Given the description of an element on the screen output the (x, y) to click on. 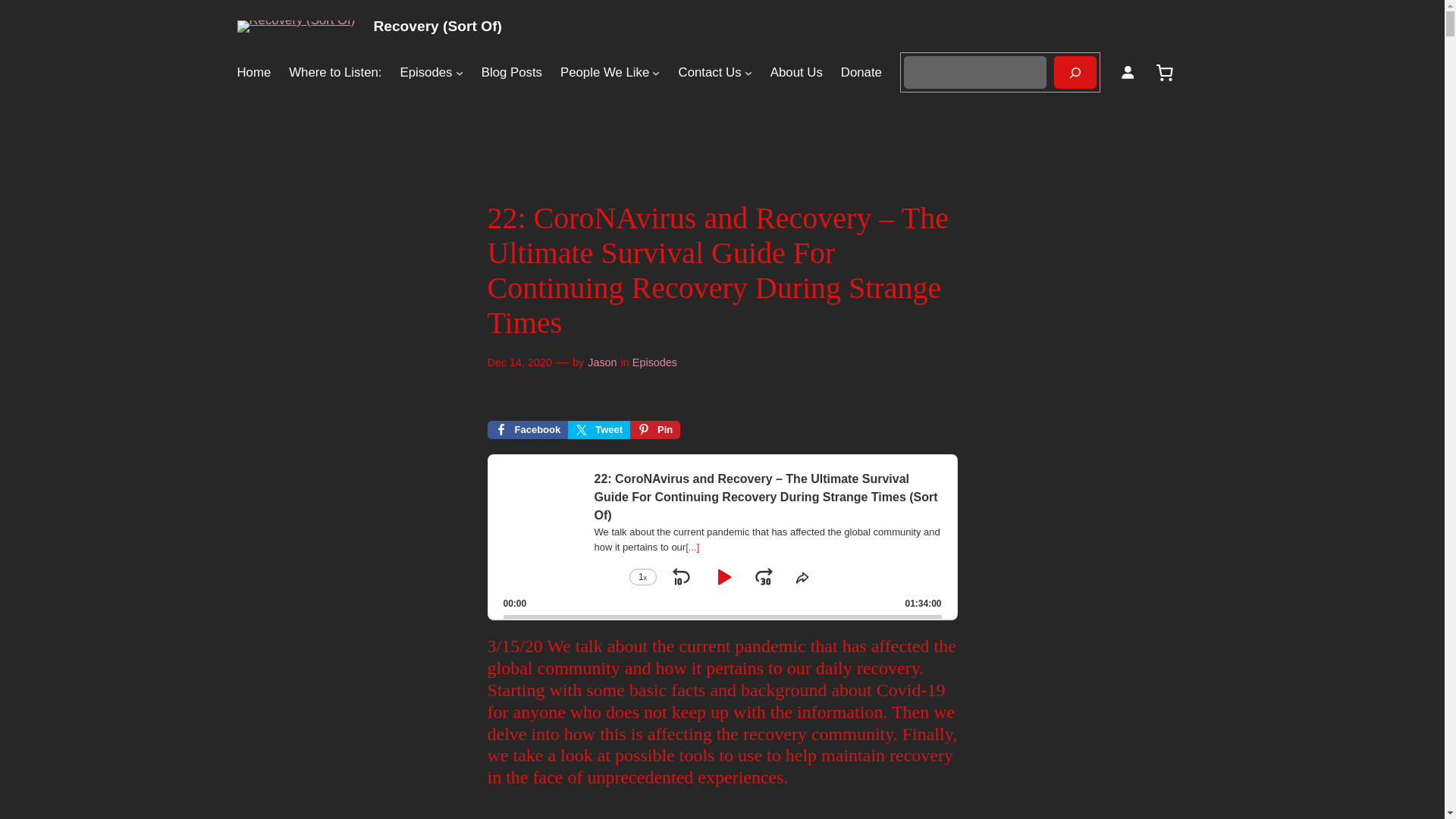
Episodes (654, 362)
Episodes (424, 72)
Share on Facebook (526, 429)
Contact Us (709, 72)
Tweet (598, 429)
Blog Posts (511, 72)
People We Like (604, 72)
Dec 14, 2020 (518, 362)
Share on Pinterest (654, 429)
Home (252, 72)
